Given the description of an element on the screen output the (x, y) to click on. 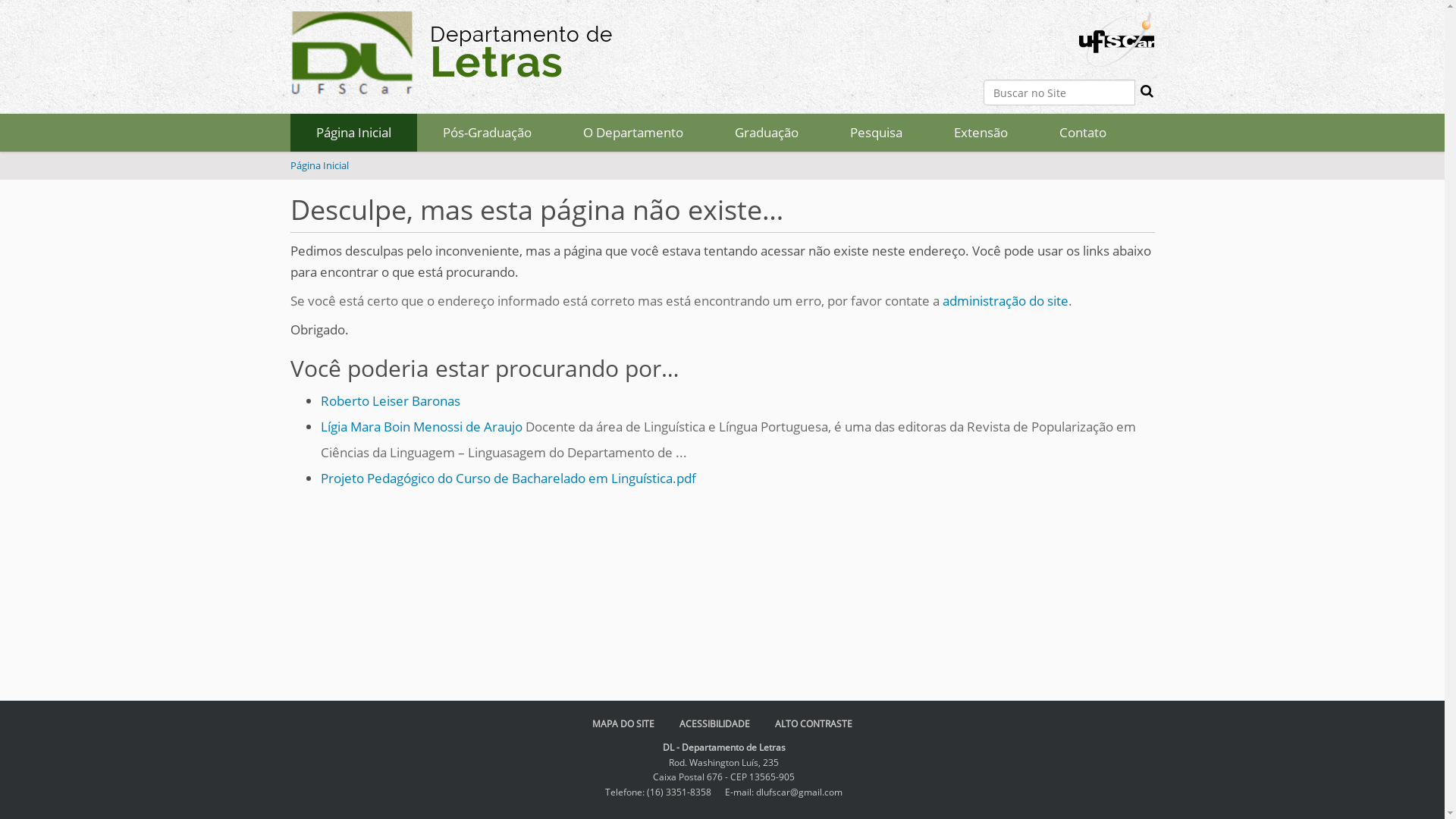
ALTO CONTRASTE Element type: text (813, 723)
Pesquisa Element type: text (875, 132)
Roberto Leiser Baronas Element type: text (389, 400)
ACESSIBILIDADE Element type: text (714, 723)
Buscar no Site Element type: hover (1058, 92)
O Departamento Element type: text (632, 132)
MAPA DO SITE Element type: text (623, 723)
Departamento de
Letras Element type: text (450, 56)
Portal UFSCar Element type: hover (1116, 38)
Contato Element type: text (1081, 132)
Departamento de Letras Element type: hover (351, 56)
